Given the description of an element on the screen output the (x, y) to click on. 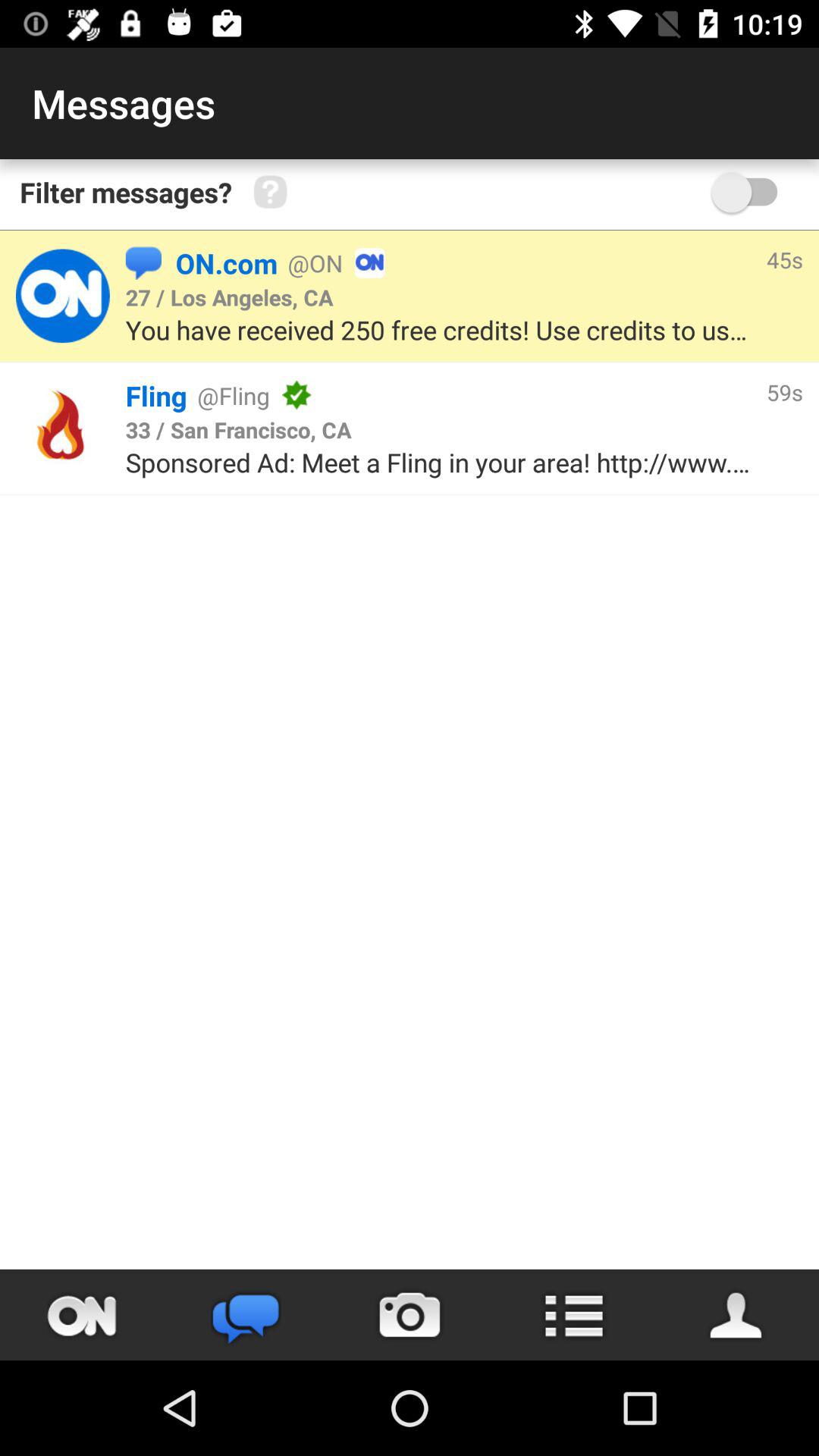
select 33 san francisco item (238, 429)
